Given the description of an element on the screen output the (x, y) to click on. 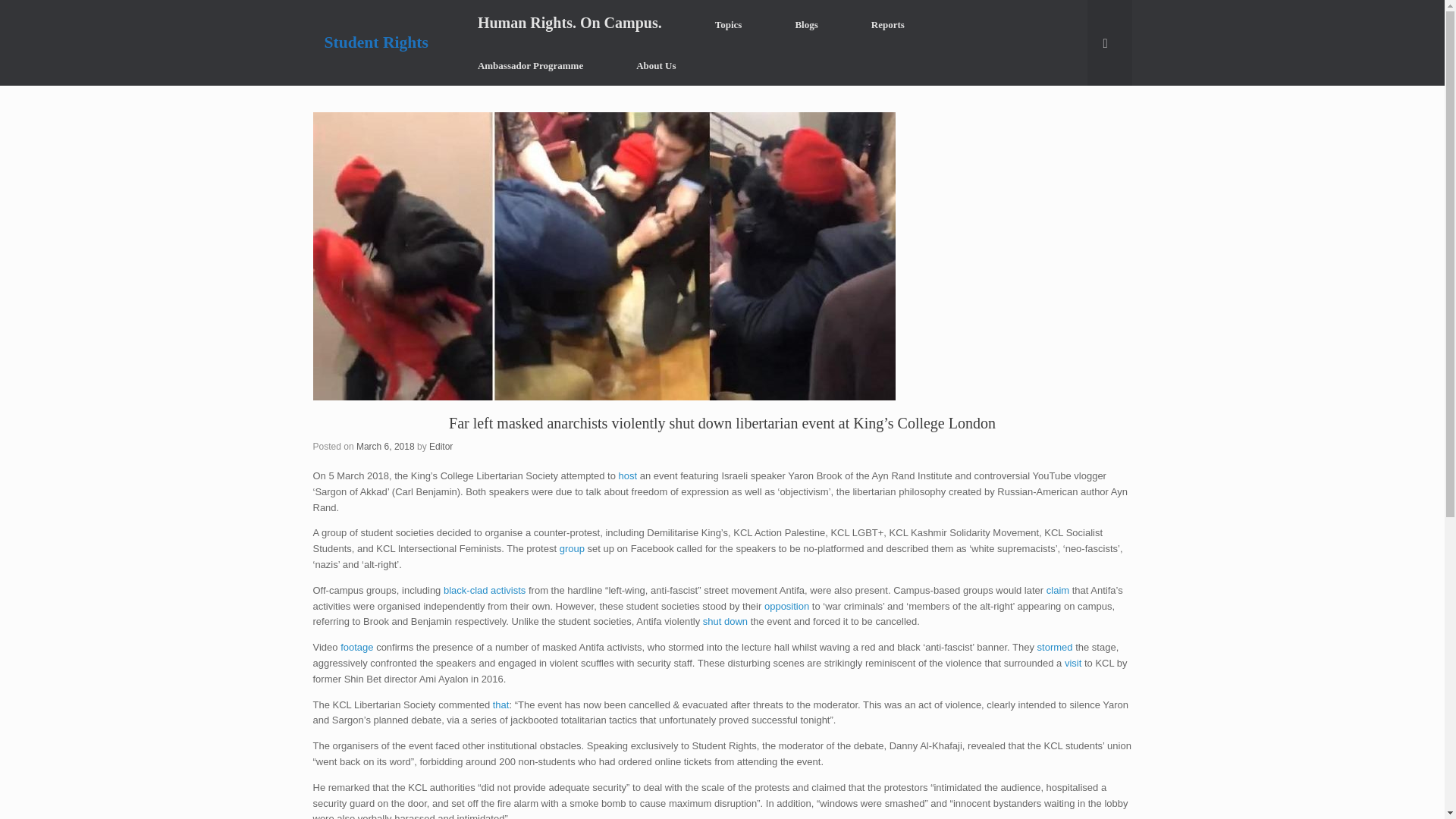
that (501, 704)
4:59 pm (385, 446)
visit (1072, 663)
Blogs (806, 24)
Ambassador Programme (530, 65)
Student Rights (376, 42)
shut down (725, 621)
Student Rights (376, 42)
group (572, 548)
footage (356, 646)
